Given the description of an element on the screen output the (x, y) to click on. 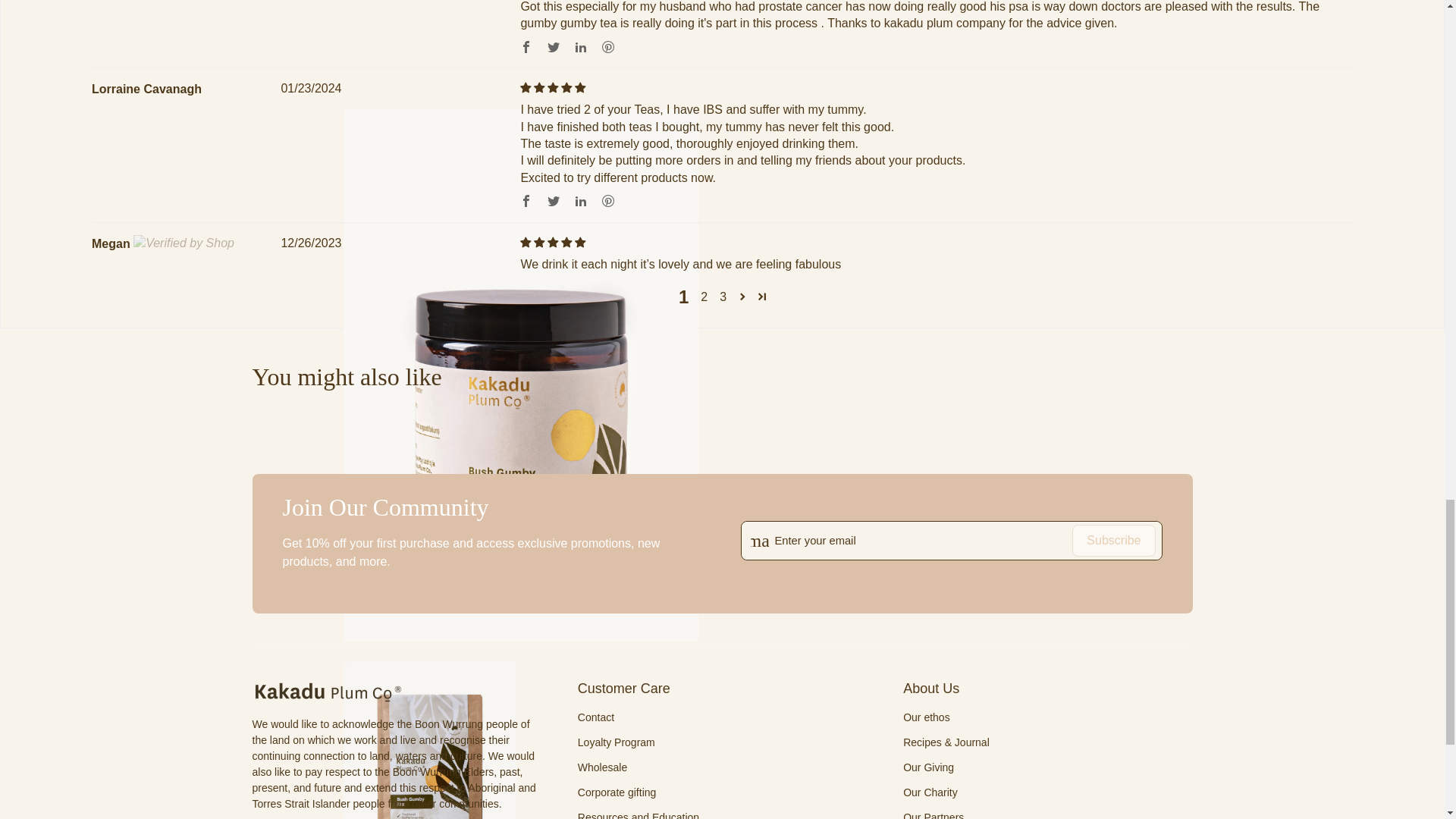
Facebook (525, 47)
Twitter (553, 47)
Subscribe (1112, 540)
Pinterest (607, 47)
Facebook (525, 200)
LinkedIn (580, 200)
LinkedIn (580, 47)
Pinterest (607, 200)
Twitter (553, 200)
